Given the description of an element on the screen output the (x, y) to click on. 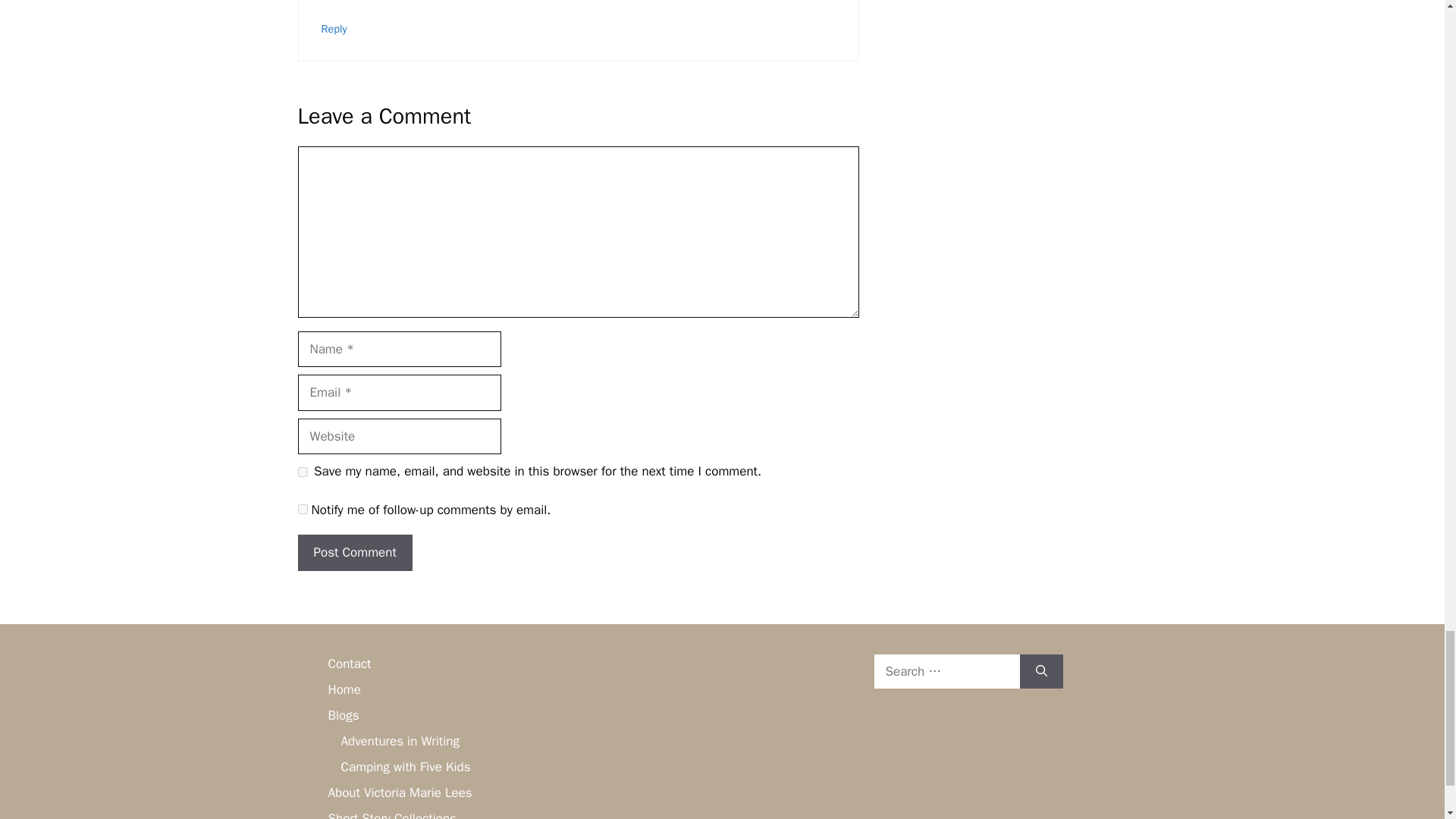
subscribe (302, 509)
Search for: (946, 671)
Post Comment (354, 552)
yes (302, 471)
